Given the description of an element on the screen output the (x, y) to click on. 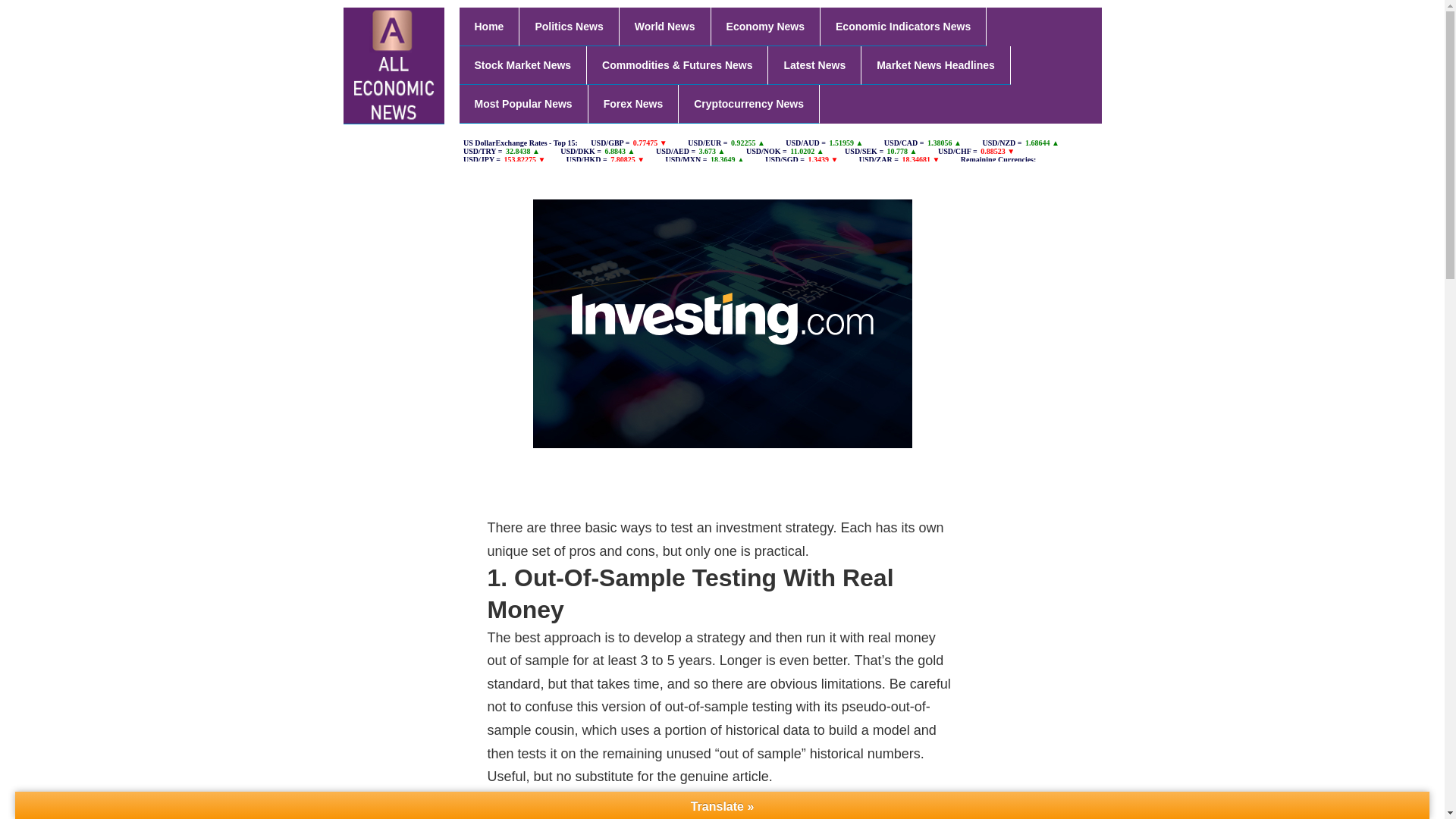
Most Popular News (524, 104)
Economic Indicators News (904, 26)
Home (489, 26)
Stock Market News (524, 65)
Economy News (766, 26)
Latest News (814, 65)
Politics News (568, 26)
Market News Headlines (935, 65)
World News (665, 26)
Forex News (633, 104)
Cryptocurrency News (748, 104)
